Given the description of an element on the screen output the (x, y) to click on. 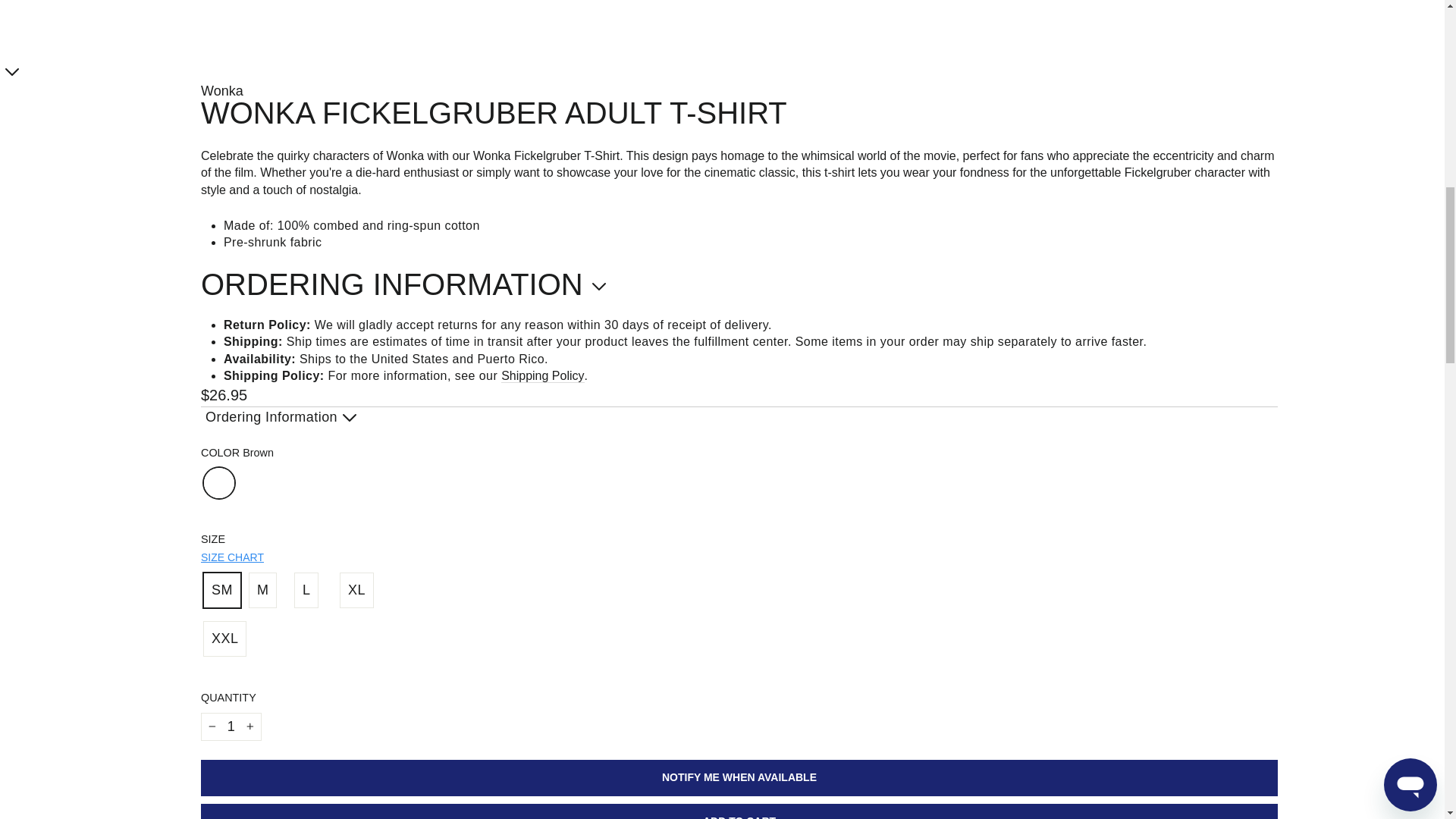
1 (231, 726)
